Given the description of an element on the screen output the (x, y) to click on. 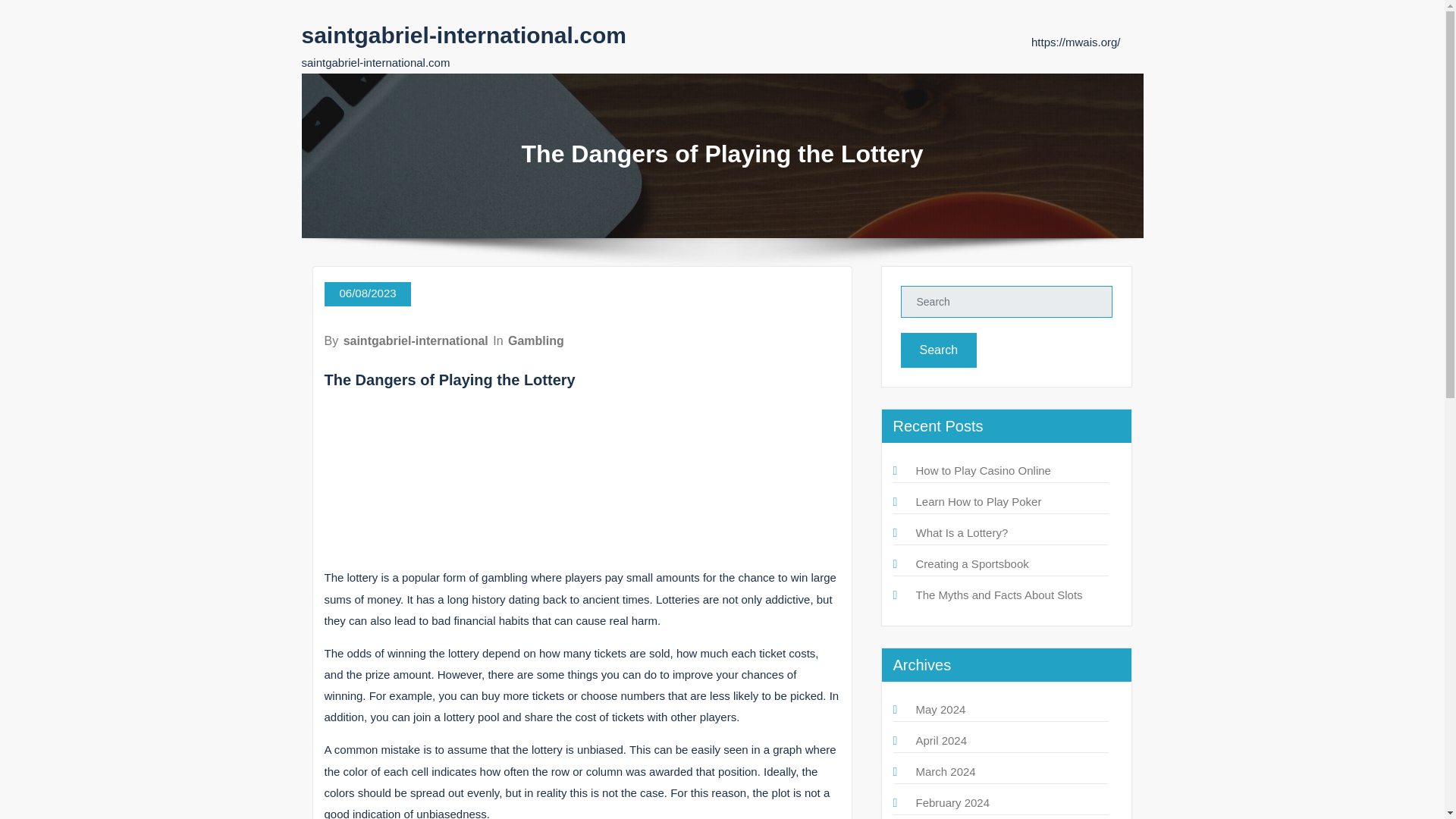
March 2024 (945, 771)
saintgabriel-international (415, 340)
The Myths and Facts About Slots (999, 594)
April 2024 (941, 739)
Search (938, 349)
Gambling (536, 340)
How to Play Casino Online (983, 470)
May 2024 (940, 708)
Creating a Sportsbook (972, 563)
Learn How to Play Poker (978, 501)
saintgabriel-international.com (463, 34)
February 2024 (952, 802)
What Is a Lottery? (962, 532)
